Given the description of an element on the screen output the (x, y) to click on. 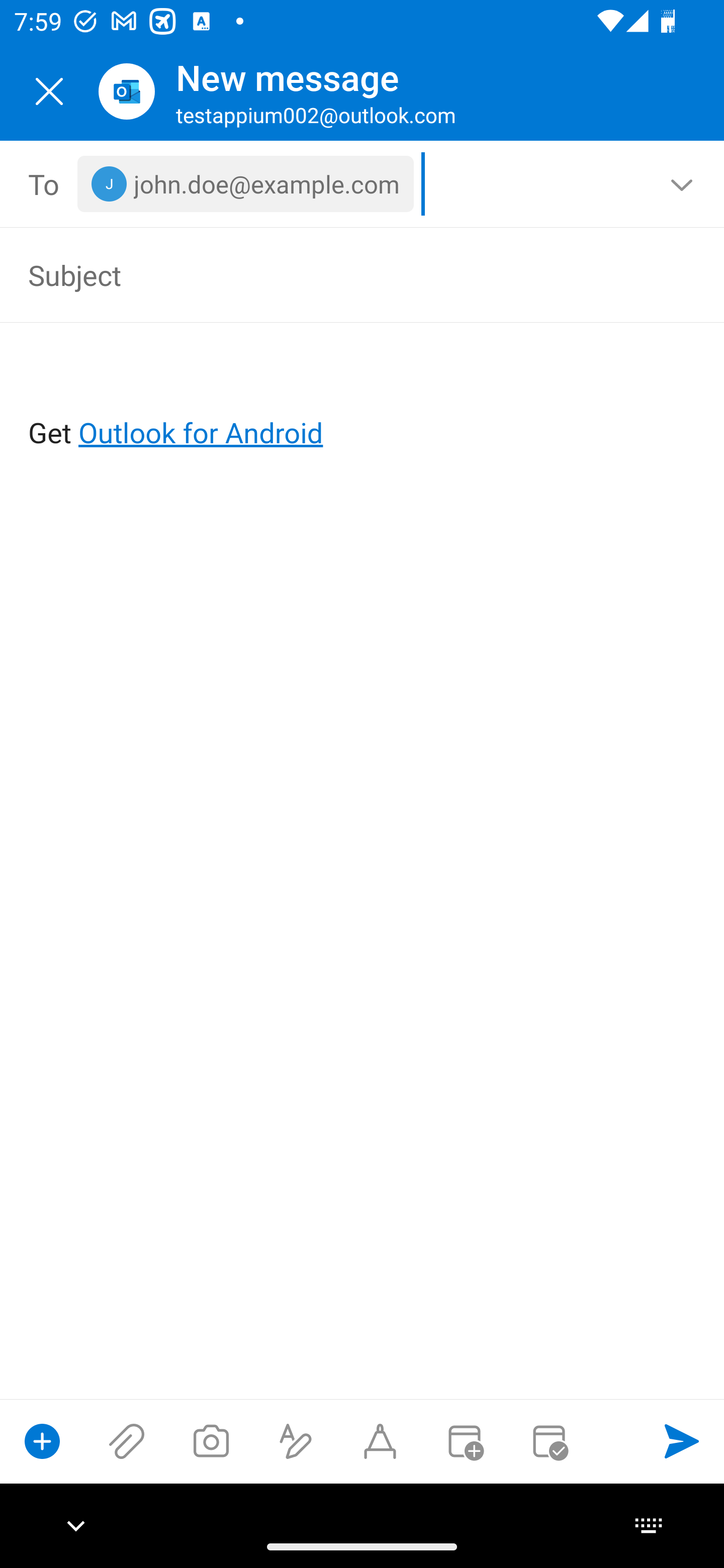
Close (49, 91)
To, 1 recipient <john.doe@example.com> (362, 184)
Subject (333, 274)


Get Outlook for Android (363, 400)
Show compose options (42, 1440)
Attach files (126, 1440)
Take a photo (210, 1440)
Show formatting options (295, 1440)
Start Ink compose (380, 1440)
Convert to event (464, 1440)
Send availability (548, 1440)
Send (681, 1440)
